Given the description of an element on the screen output the (x, y) to click on. 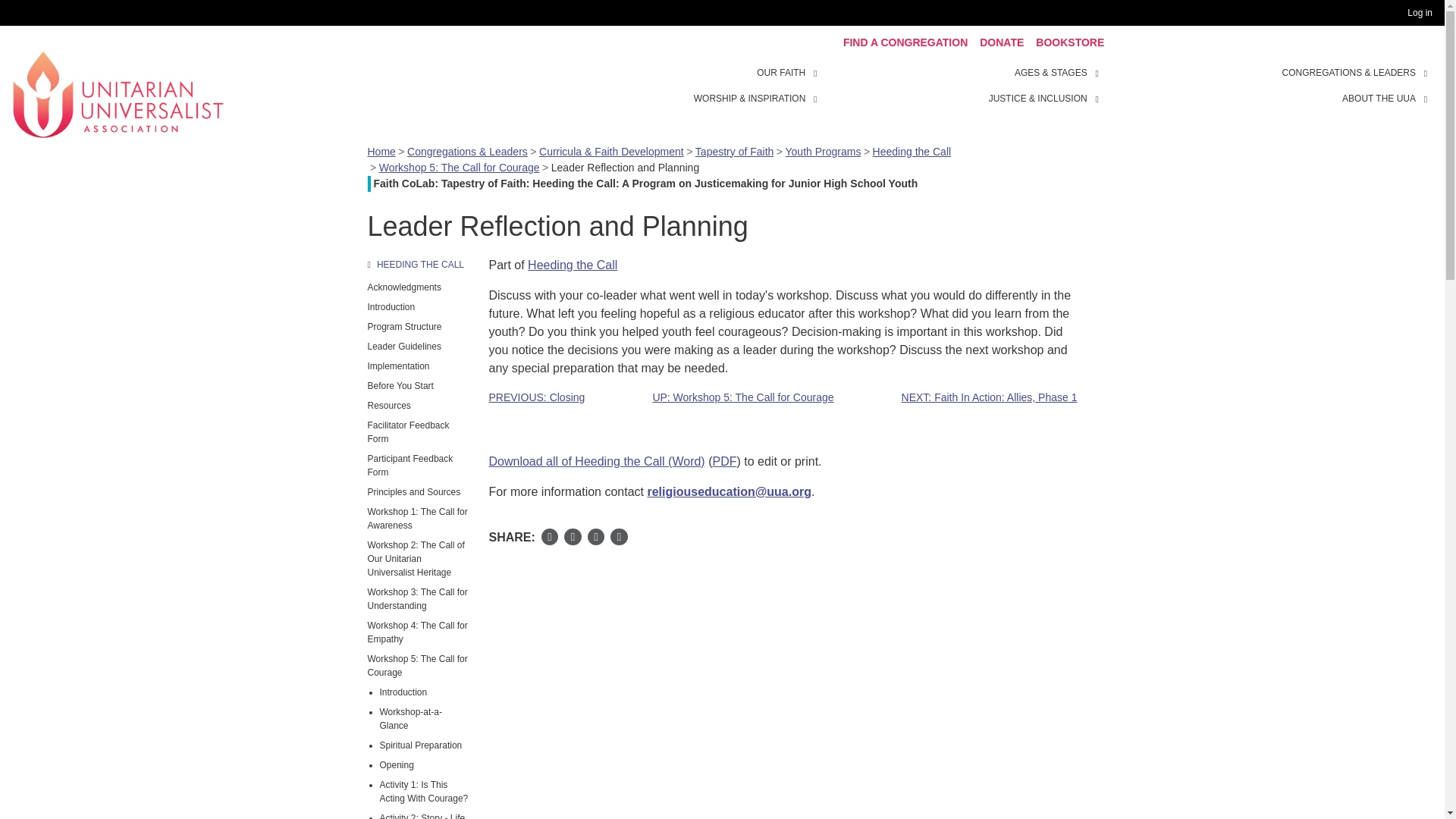
Site Menu (962, 85)
Home (117, 92)
Log in (1423, 12)
Go up this menu (418, 264)
DONATE (1001, 42)
BOOKSTORE (1069, 42)
Print this page (618, 537)
Share by email (596, 537)
OUR FAITH (817, 71)
OUR FAITH (781, 72)
FIND A CONGREGATION (905, 42)
Share on Facebook (550, 537)
Share on Twitter (572, 537)
